Given the description of an element on the screen output the (x, y) to click on. 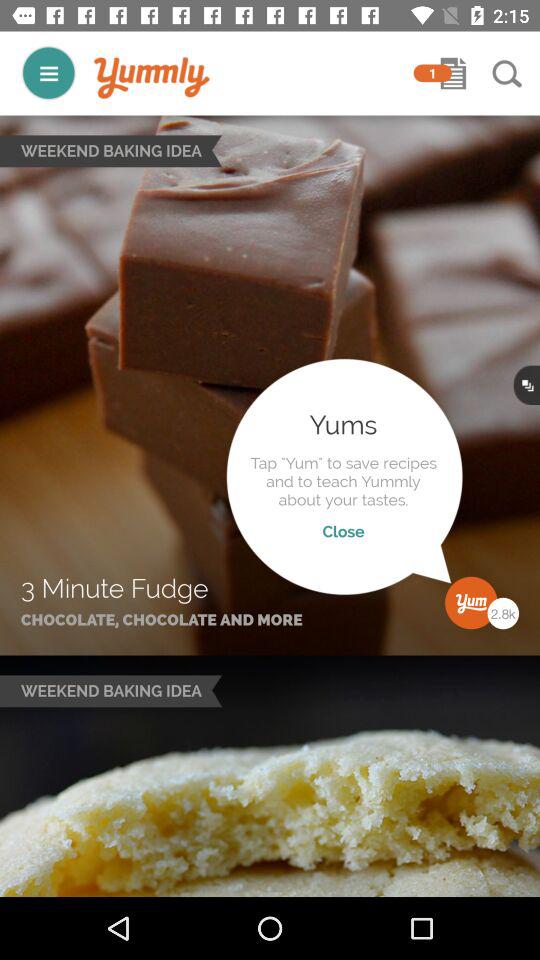
show the menu (48, 72)
